Given the description of an element on the screen output the (x, y) to click on. 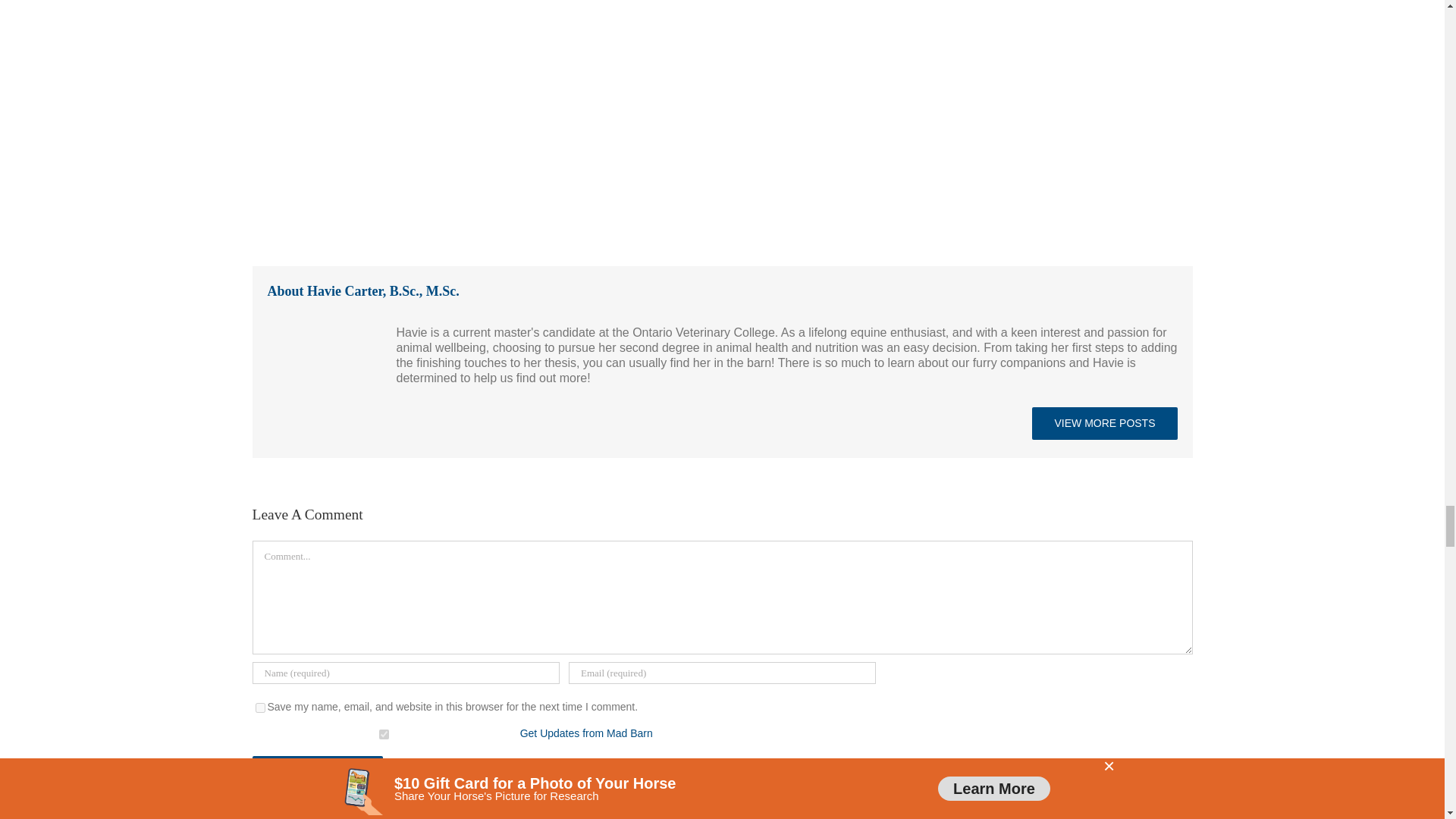
yes (259, 707)
Post Comment (316, 771)
1 (383, 734)
